Given the description of an element on the screen output the (x, y) to click on. 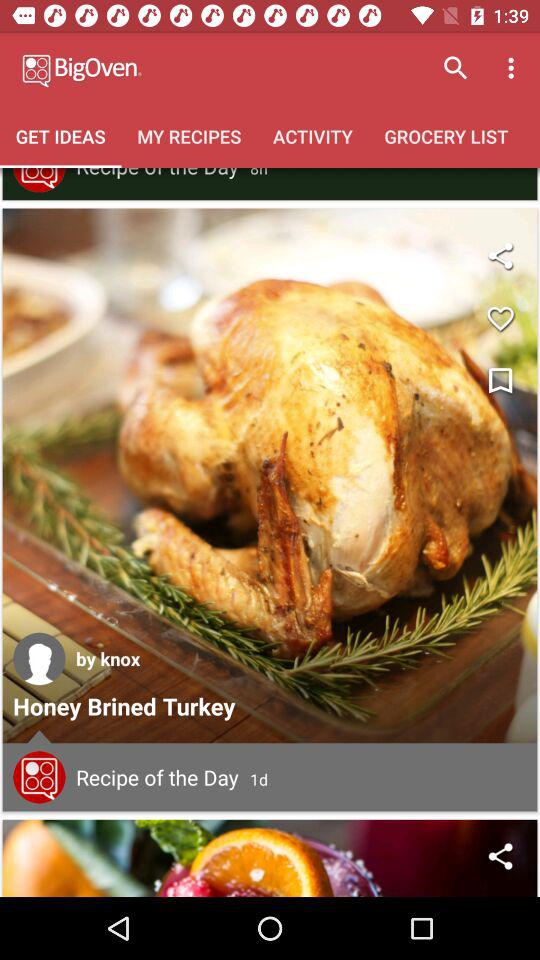
image button (269, 475)
